Given the description of an element on the screen output the (x, y) to click on. 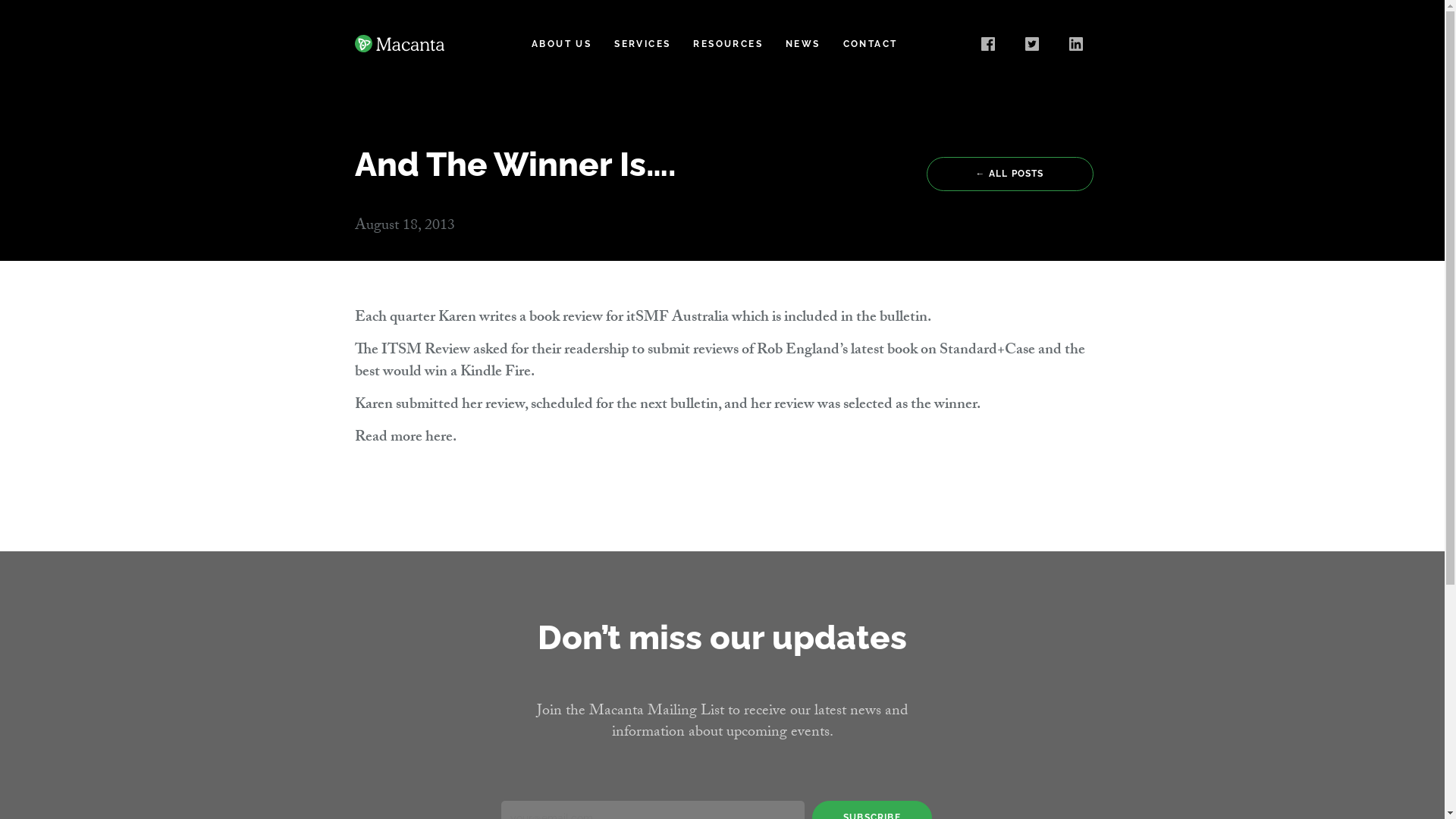
 Facebook Element type: hover (991, 43)
 LinkedIn Element type: hover (1079, 43)
ABOUT US Element type: text (561, 43)
 Twitter Element type: hover (1035, 43)
CONTACT Element type: text (870, 43)
NEWS Element type: text (802, 43)
SERVICES Element type: text (641, 43)
RESOURCES Element type: text (727, 43)
